Given the description of an element on the screen output the (x, y) to click on. 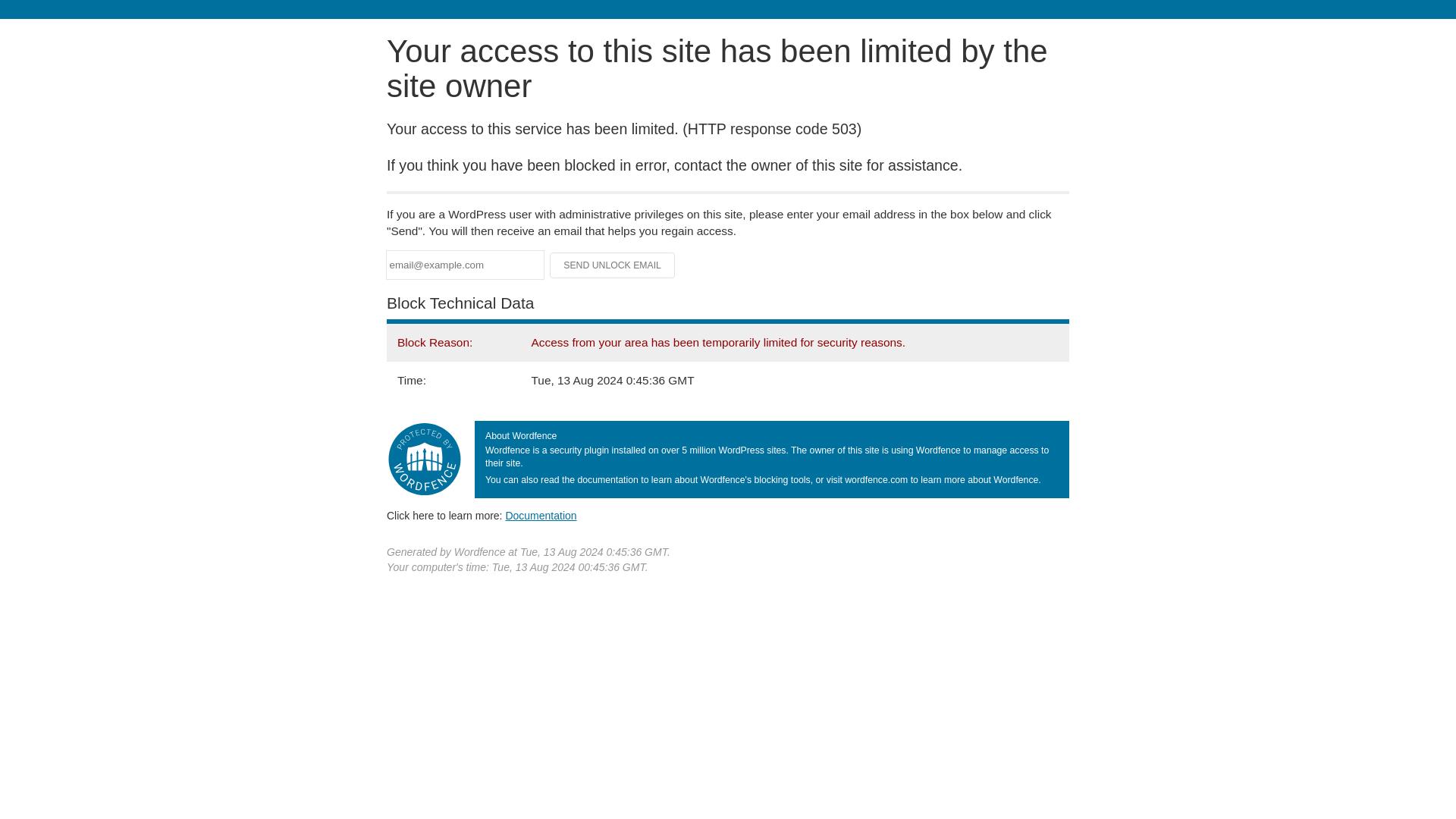
Send Unlock Email (612, 265)
Send Unlock Email (612, 265)
Documentation (540, 515)
